Given the description of an element on the screen output the (x, y) to click on. 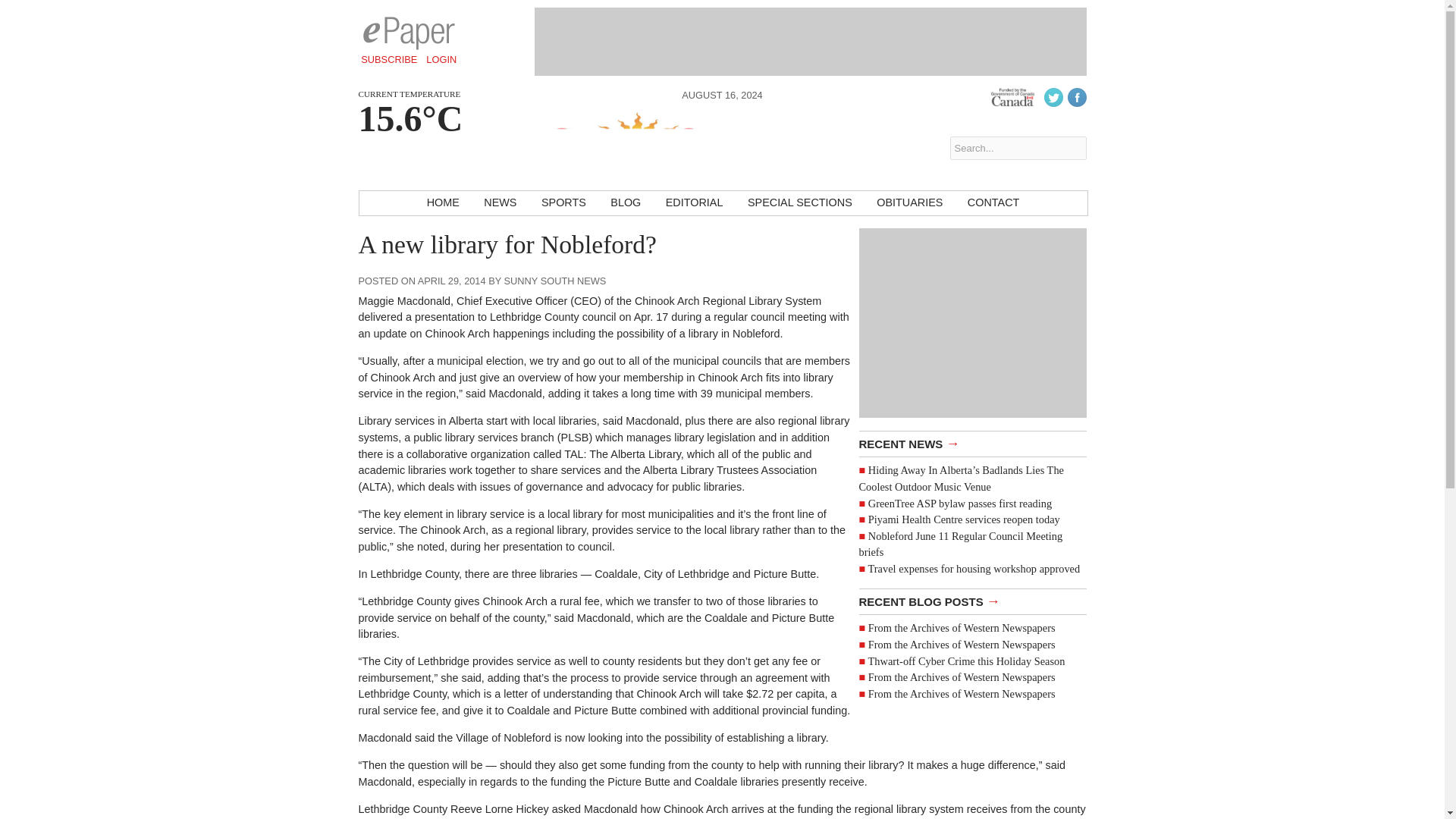
EDITORIAL (694, 202)
BLOG (624, 202)
Nobleford June 11 Regular Council Meeting briefs (960, 543)
CONTACT (992, 202)
Thwart-off Cyber Crime this Holiday Season (966, 661)
SPORTS (563, 202)
Piyami Health Centre services reopen today (963, 519)
SUBSCRIBE (389, 58)
LOGIN (441, 58)
From the Archives of Western Newspapers (961, 676)
